Given the description of an element on the screen output the (x, y) to click on. 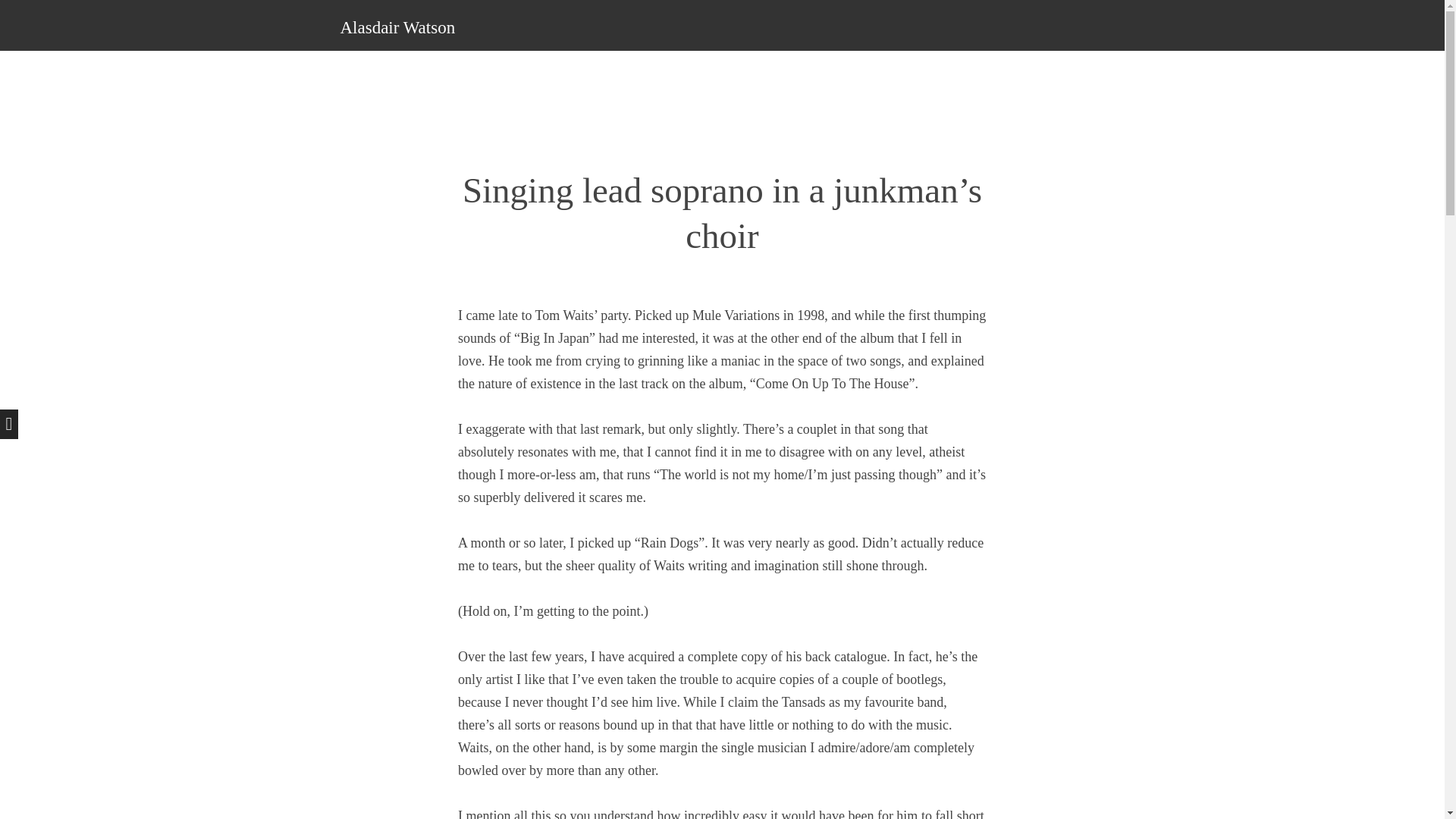
Alasdair Watson (396, 27)
Alasdair Watson (396, 27)
